Given the description of an element on the screen output the (x, y) to click on. 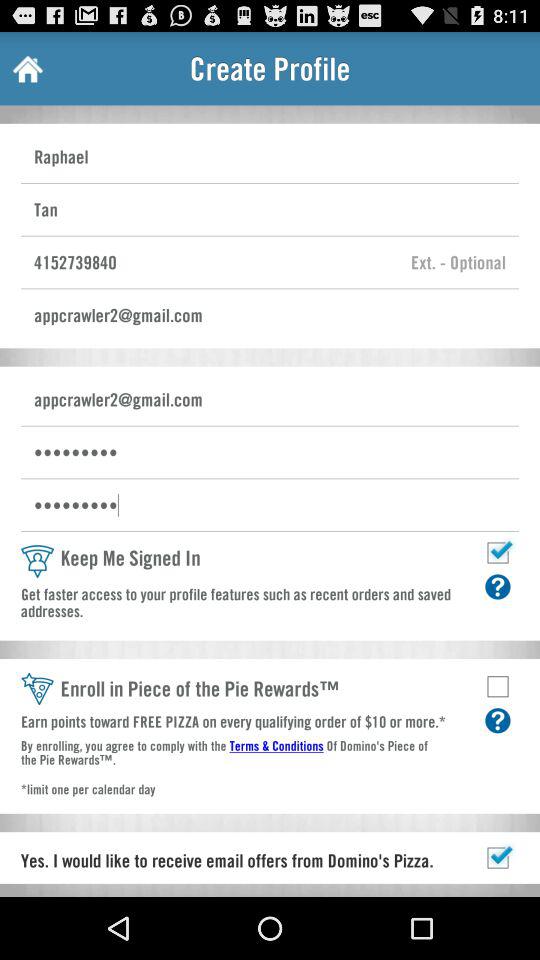
enroll account in rewards program (498, 686)
